Given the description of an element on the screen output the (x, y) to click on. 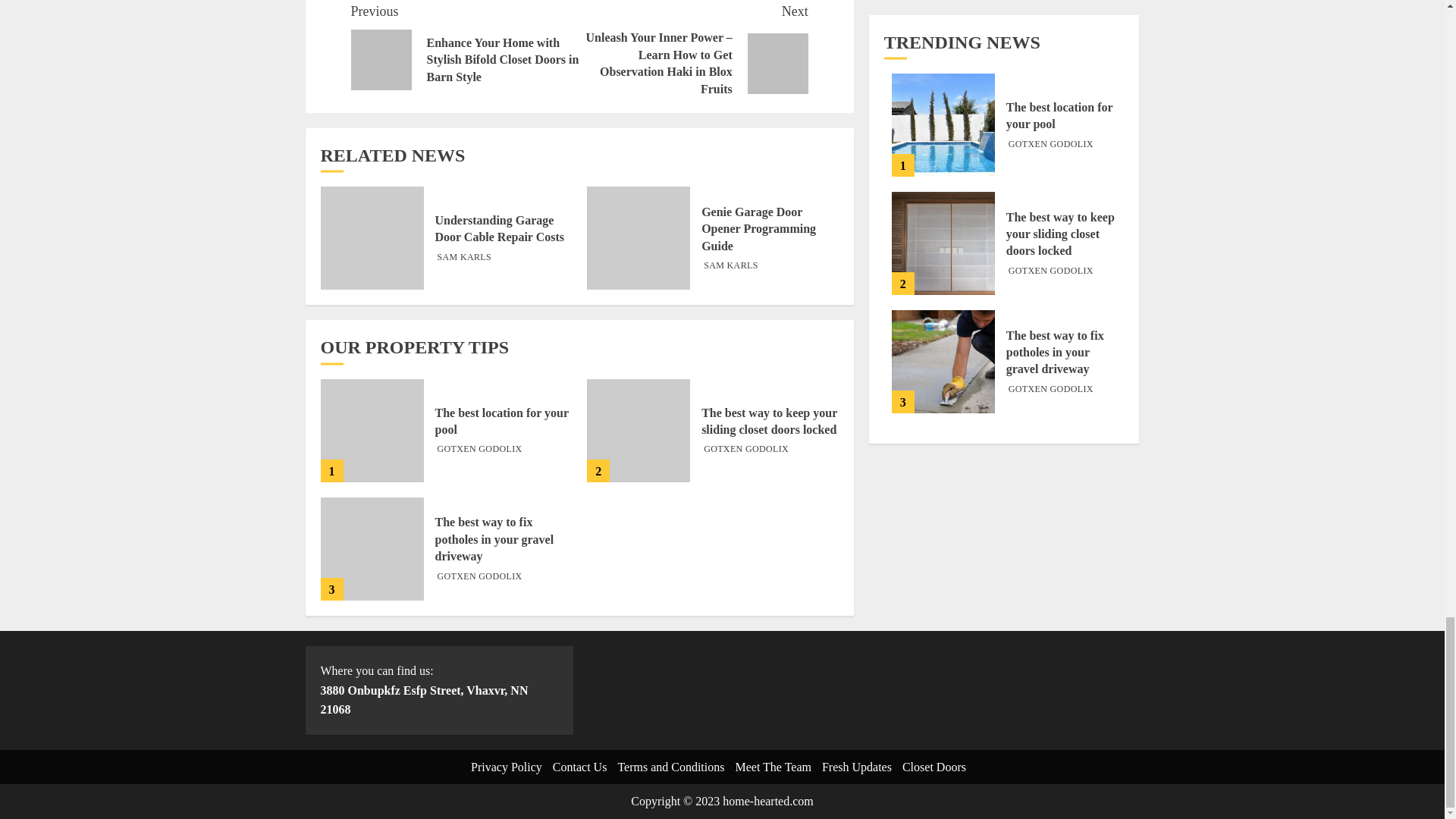
SAM KARLS (464, 257)
GOTXEN GODOLIX (478, 449)
Genie Garage Door Opener Programming Guide (638, 237)
GOTXEN GODOLIX (746, 449)
The best location for your pool (502, 421)
The best way to keep your sliding closet doors locked (638, 430)
Genie Garage Door Opener Programming Guide (758, 229)
The best way to fix potholes in your gravel driveway (494, 539)
The best way to keep your sliding closet doors locked (769, 421)
Understanding Garage Door Cable Repair Costs (499, 228)
GOTXEN GODOLIX (478, 576)
The best way to fix potholes in your gravel driveway (371, 548)
SAM KARLS (730, 265)
The best location for your pool (371, 430)
